Given the description of an element on the screen output the (x, y) to click on. 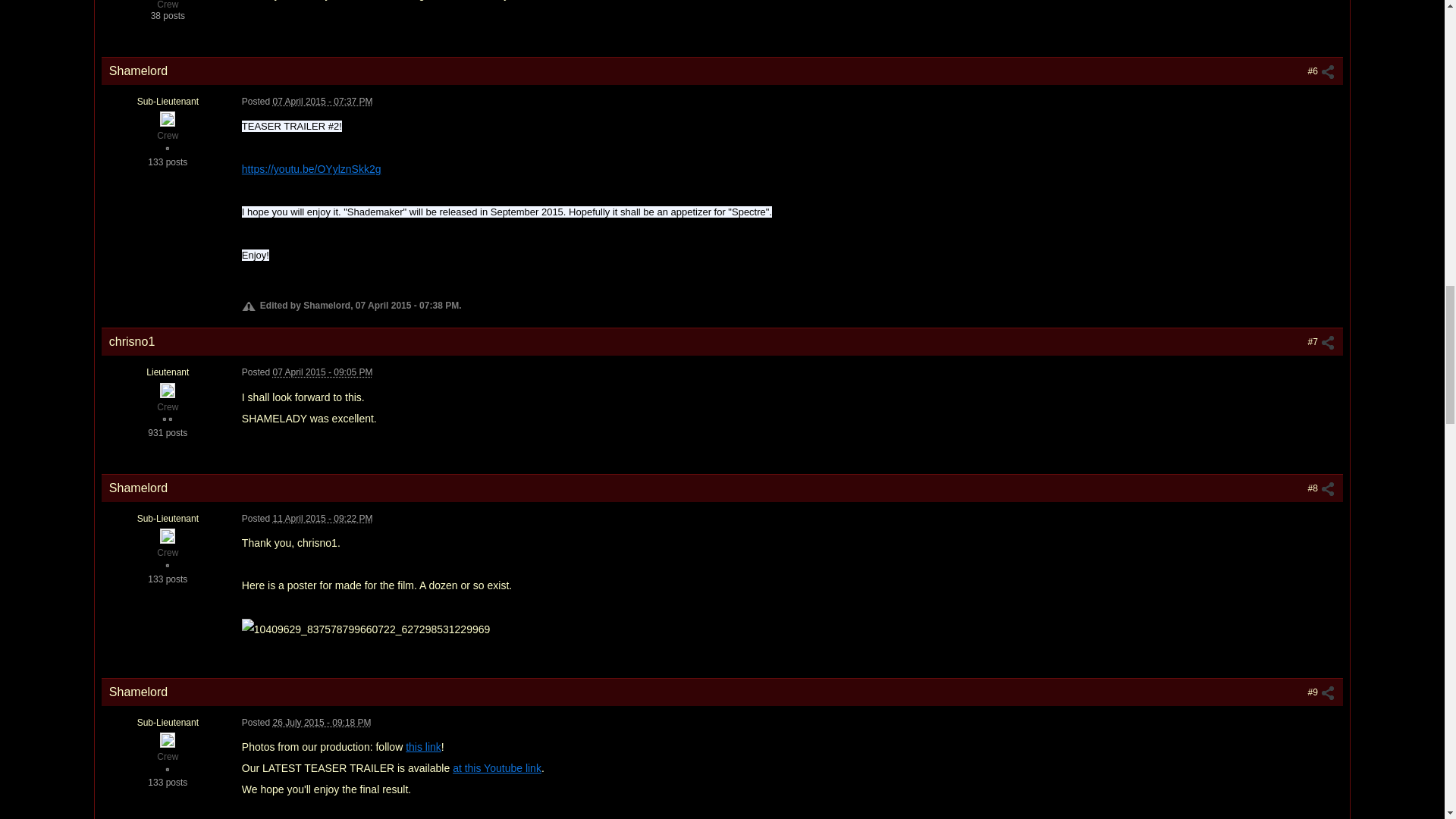
this link (423, 746)
at this Youtube link (496, 767)
